Given the description of an element on the screen output the (x, y) to click on. 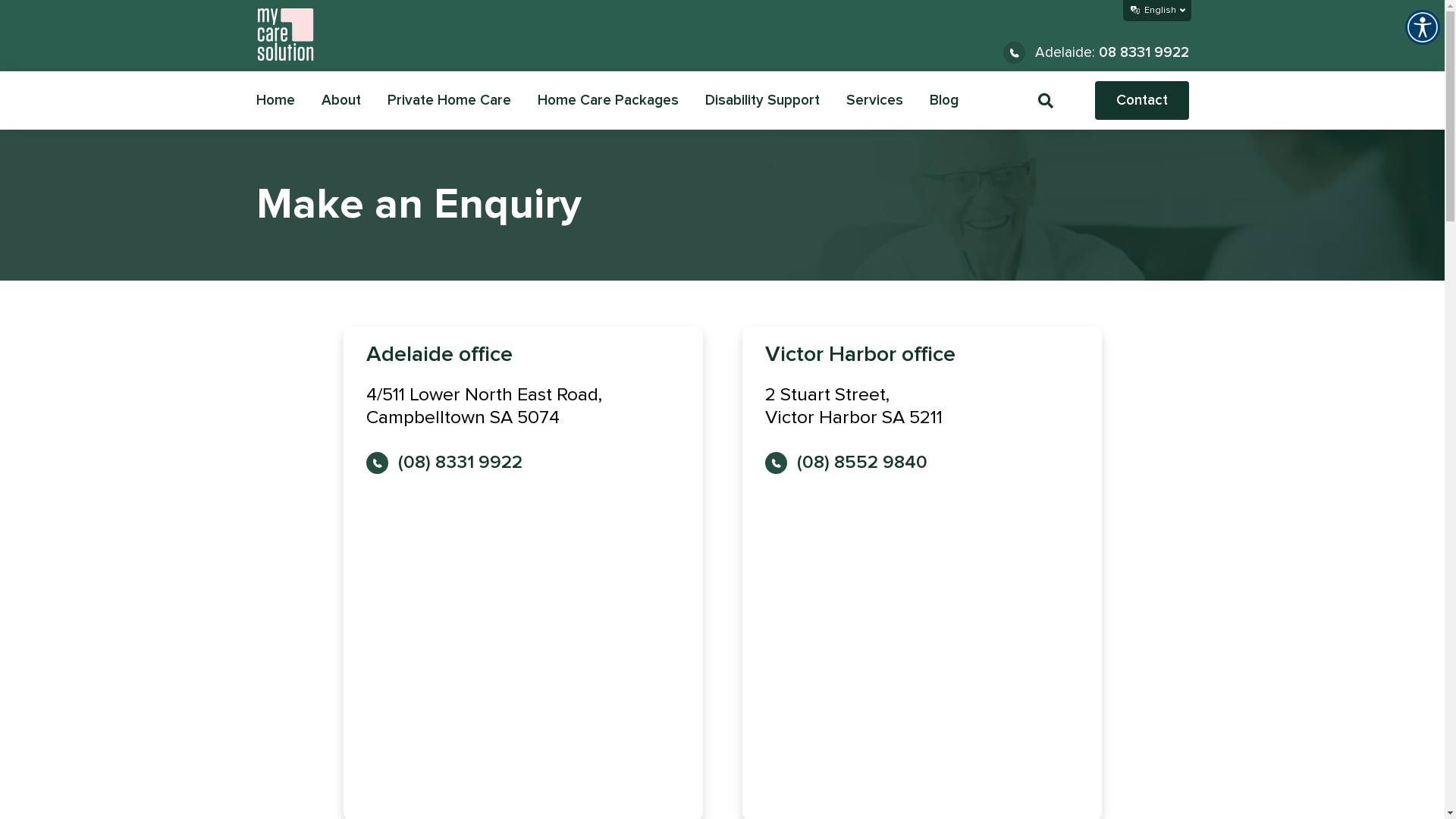
About Element type: text (340, 100)
Private Home Care Element type: text (448, 100)
Blog Element type: text (943, 100)
Contact Element type: text (1142, 100)
Disability Support Element type: text (762, 100)
(08) 8331 9922 Element type: text (443, 462)
Adelaide:
08 8331 9922 Element type: text (1095, 52)
Services Element type: text (874, 100)
Home Element type: text (275, 100)
Home Care Packages Element type: text (606, 100)
(08) 8552 9840 Element type: text (845, 462)
